Given the description of an element on the screen output the (x, y) to click on. 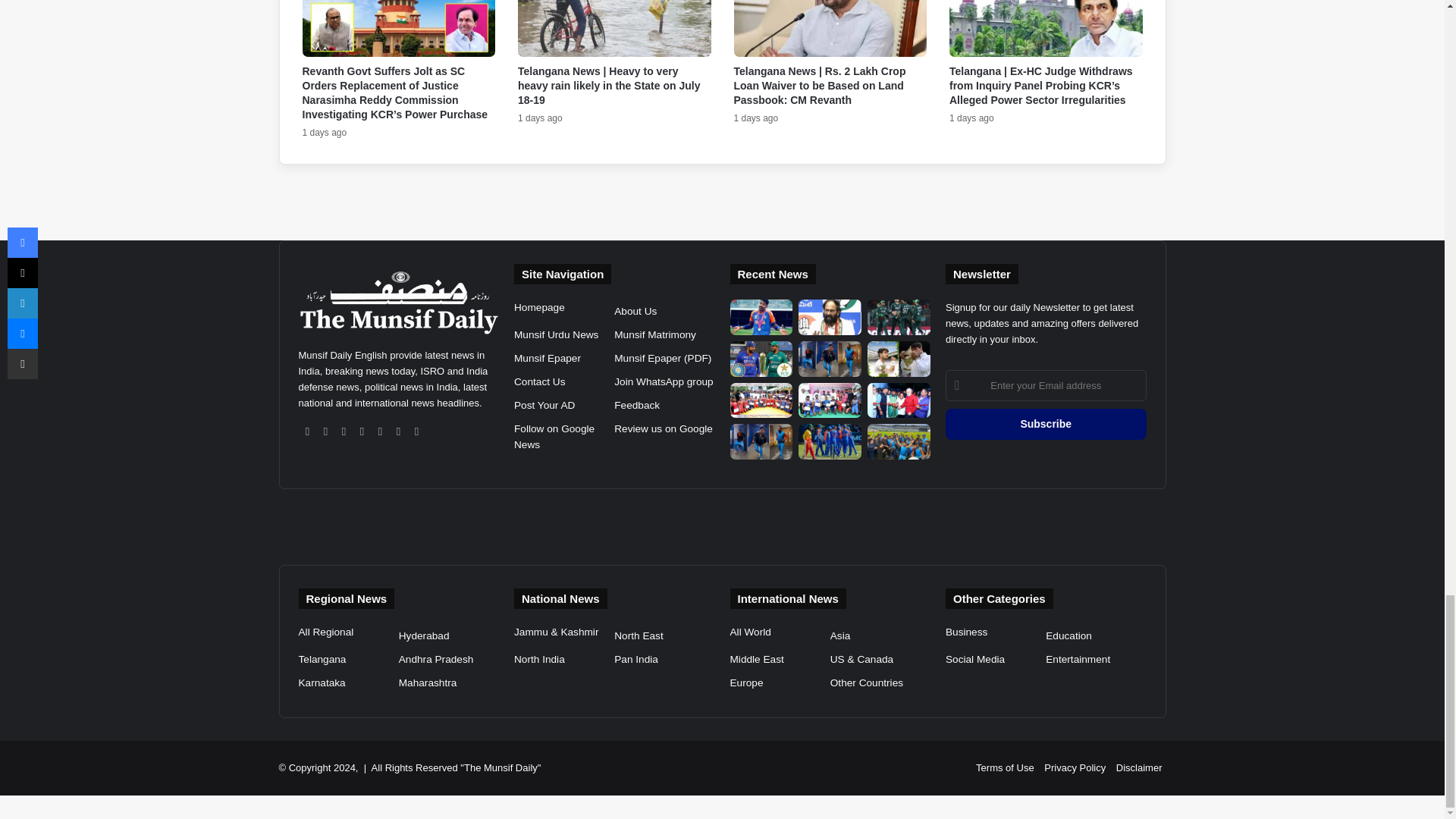
Subscribe (1045, 423)
